Given the description of an element on the screen output the (x, y) to click on. 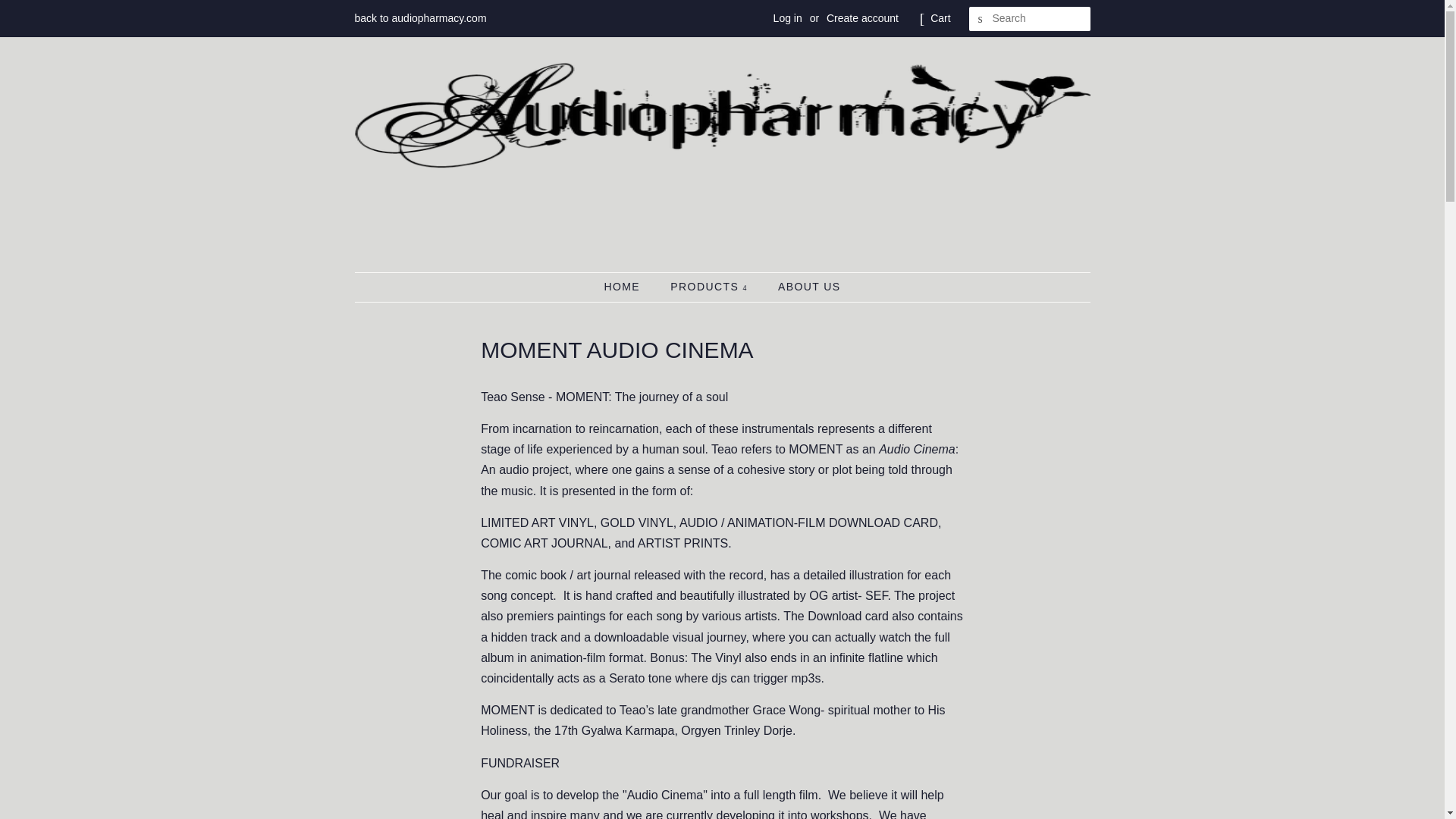
HOME (629, 287)
Cart (940, 18)
back to audiopharmacy.com (420, 18)
Log in (787, 18)
Create account (862, 18)
SEARCH (980, 18)
PRODUCTS (710, 287)
